Given the description of an element on the screen output the (x, y) to click on. 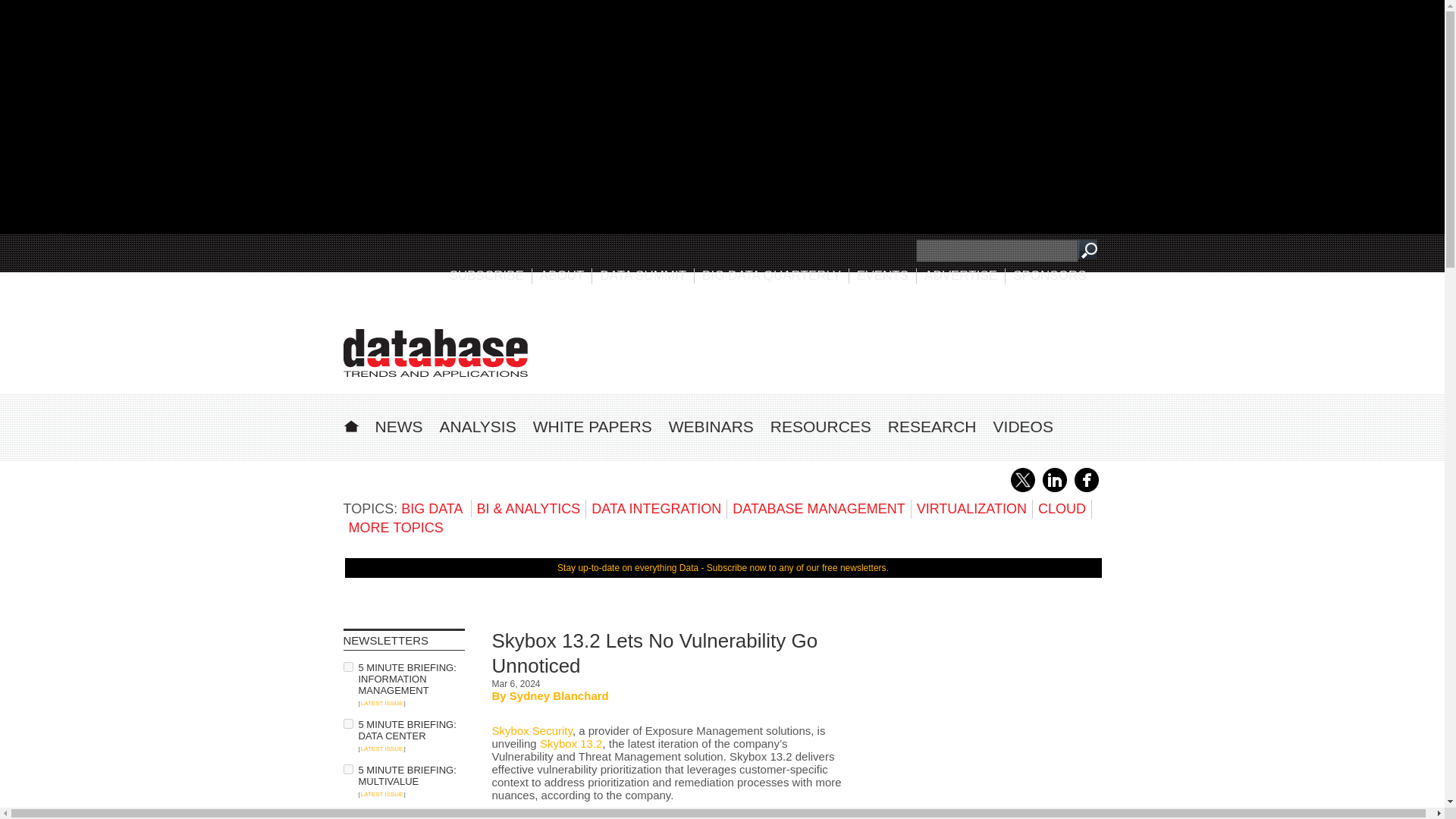
ADVERTISE (960, 275)
DBTA (434, 352)
ABOUT (562, 275)
on (347, 723)
DBTA on LinkedIn (1053, 489)
Click for more articles by this author (558, 695)
DBTA (434, 352)
HOME (350, 424)
VIDEOS (1022, 425)
EVENTS (882, 275)
WEBINARS (711, 425)
RESEARCH (932, 425)
Database Trends and Applications Home (350, 424)
DBTA on Twitter (1021, 489)
on (347, 814)
